Given the description of an element on the screen output the (x, y) to click on. 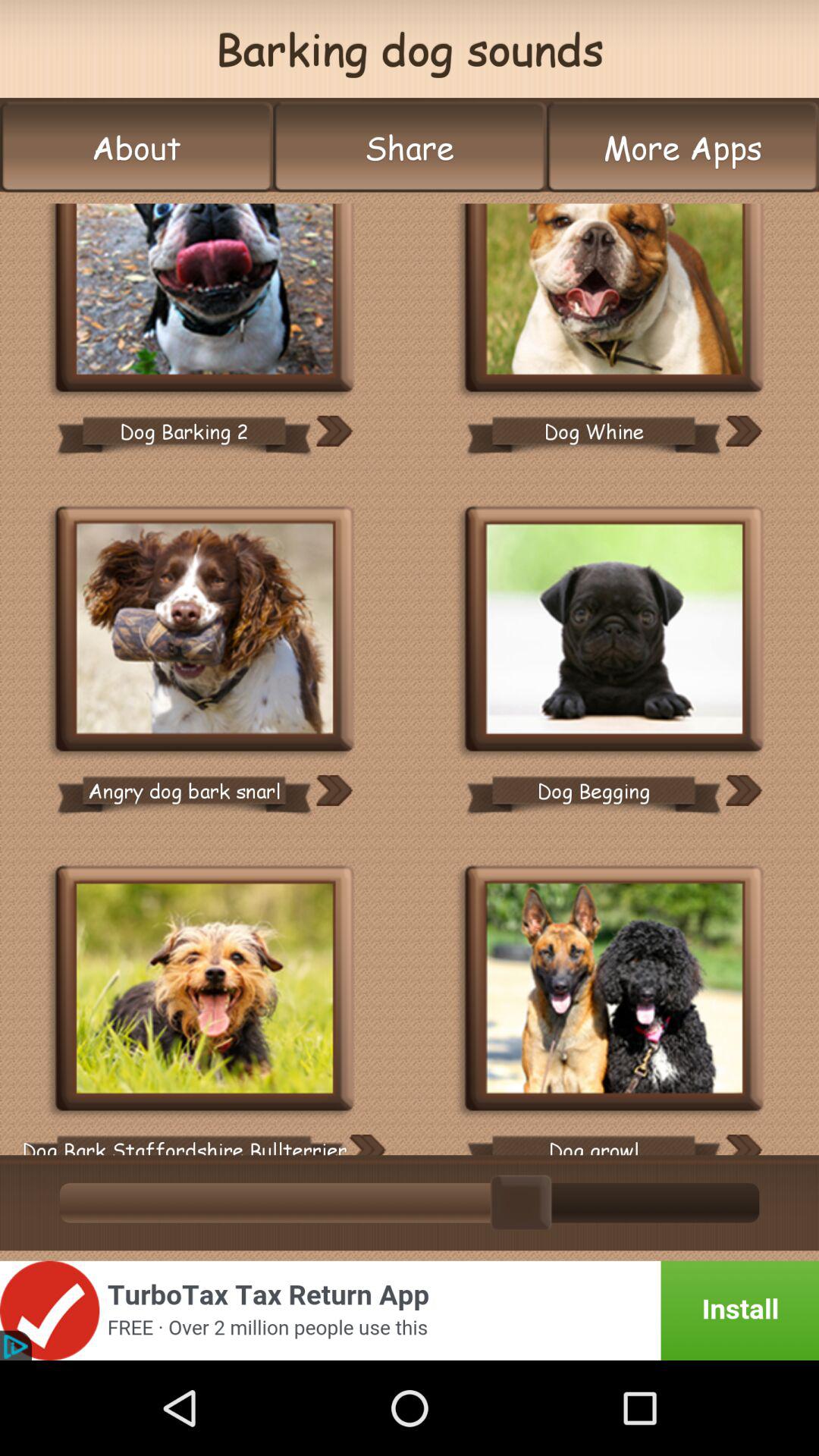
dog barking 2 (204, 298)
